Given the description of an element on the screen output the (x, y) to click on. 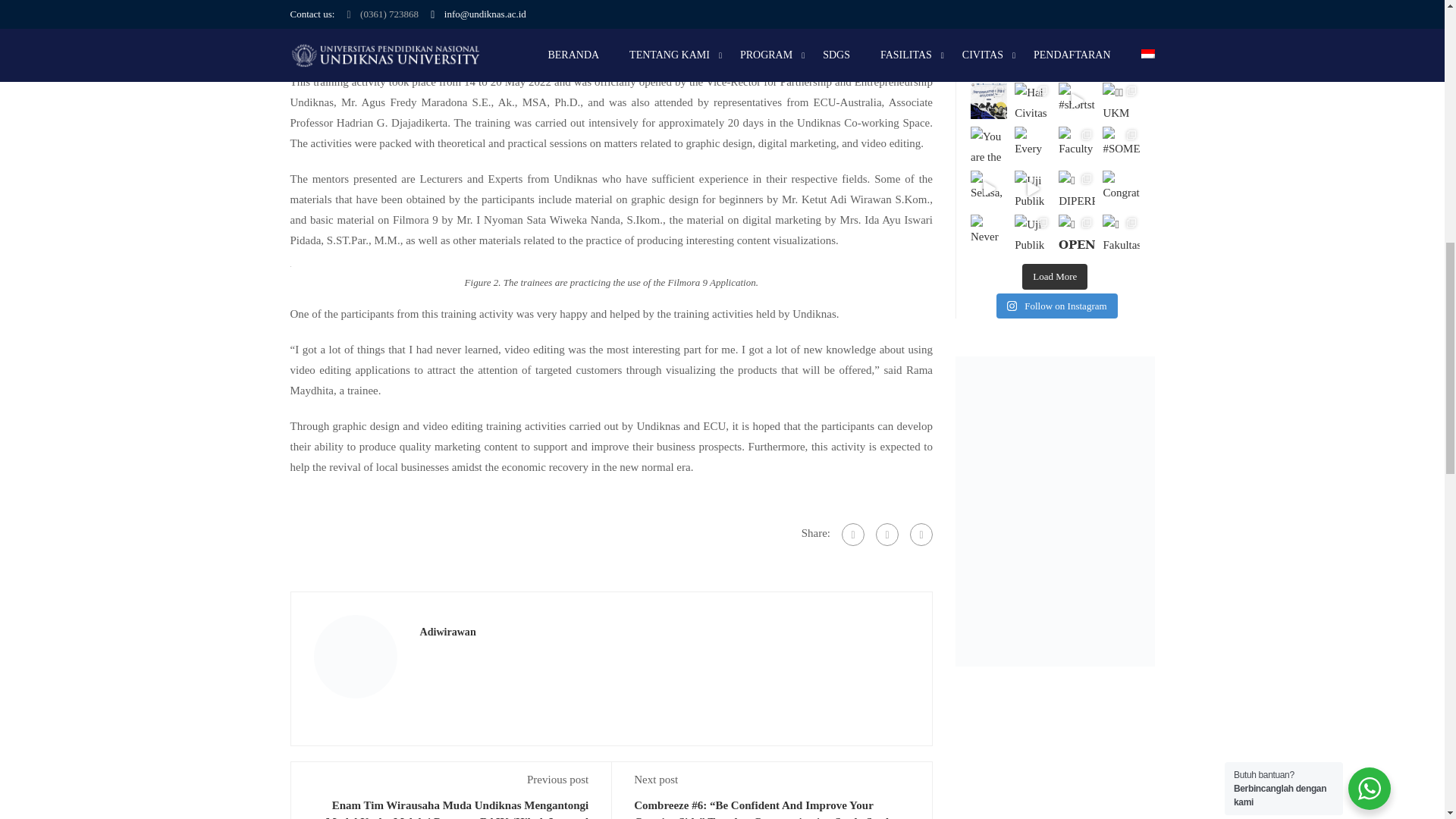
Twitter (887, 534)
Pinterest (921, 534)
Facebook (852, 534)
